Given the description of an element on the screen output the (x, y) to click on. 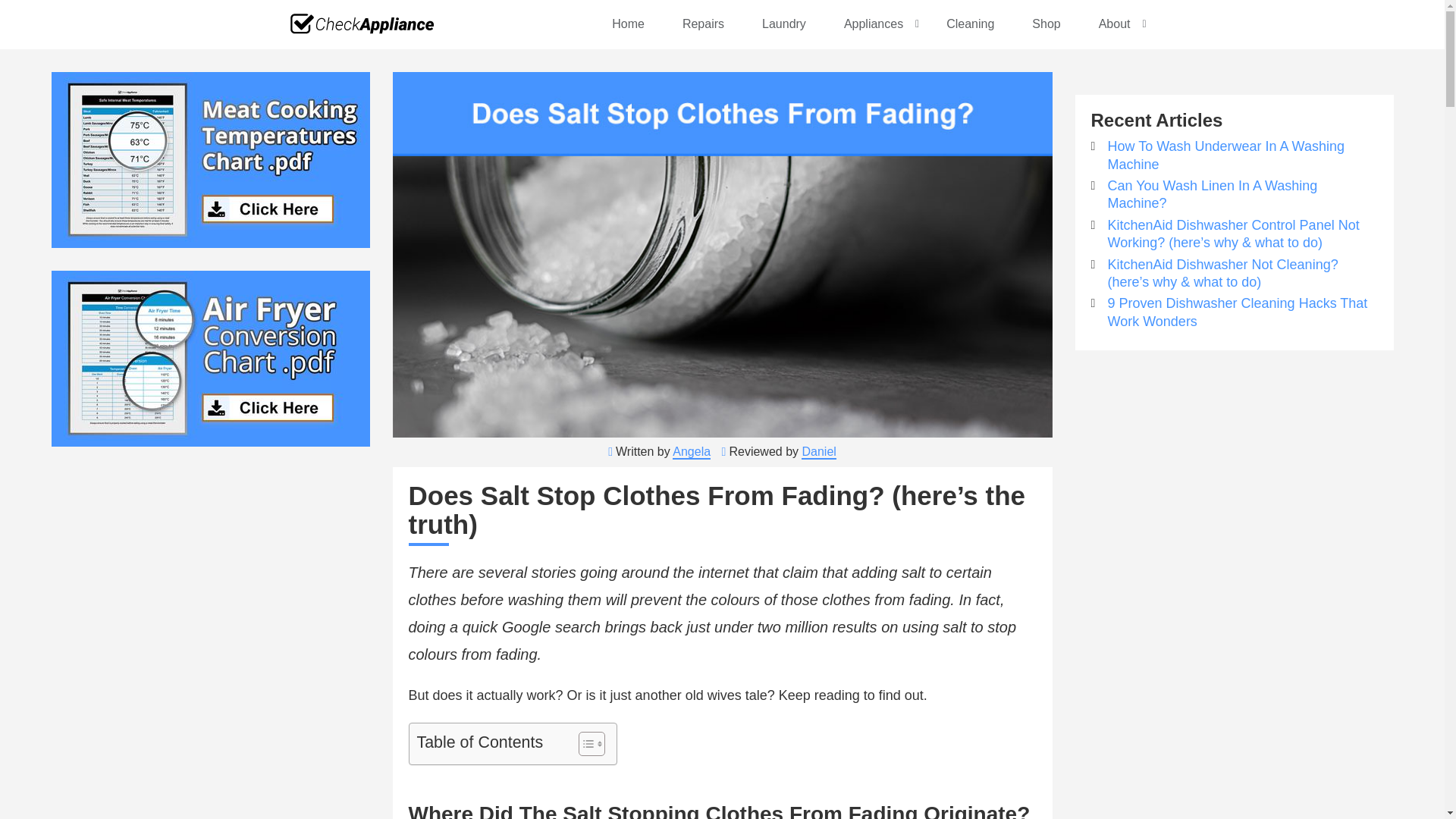
Angela (691, 451)
Cleaning (970, 24)
Shop (1045, 24)
Repairs (702, 24)
About (1117, 24)
Daniel (818, 451)
Appliances (876, 24)
Laundry (783, 24)
Home (627, 24)
